Given the description of an element on the screen output the (x, y) to click on. 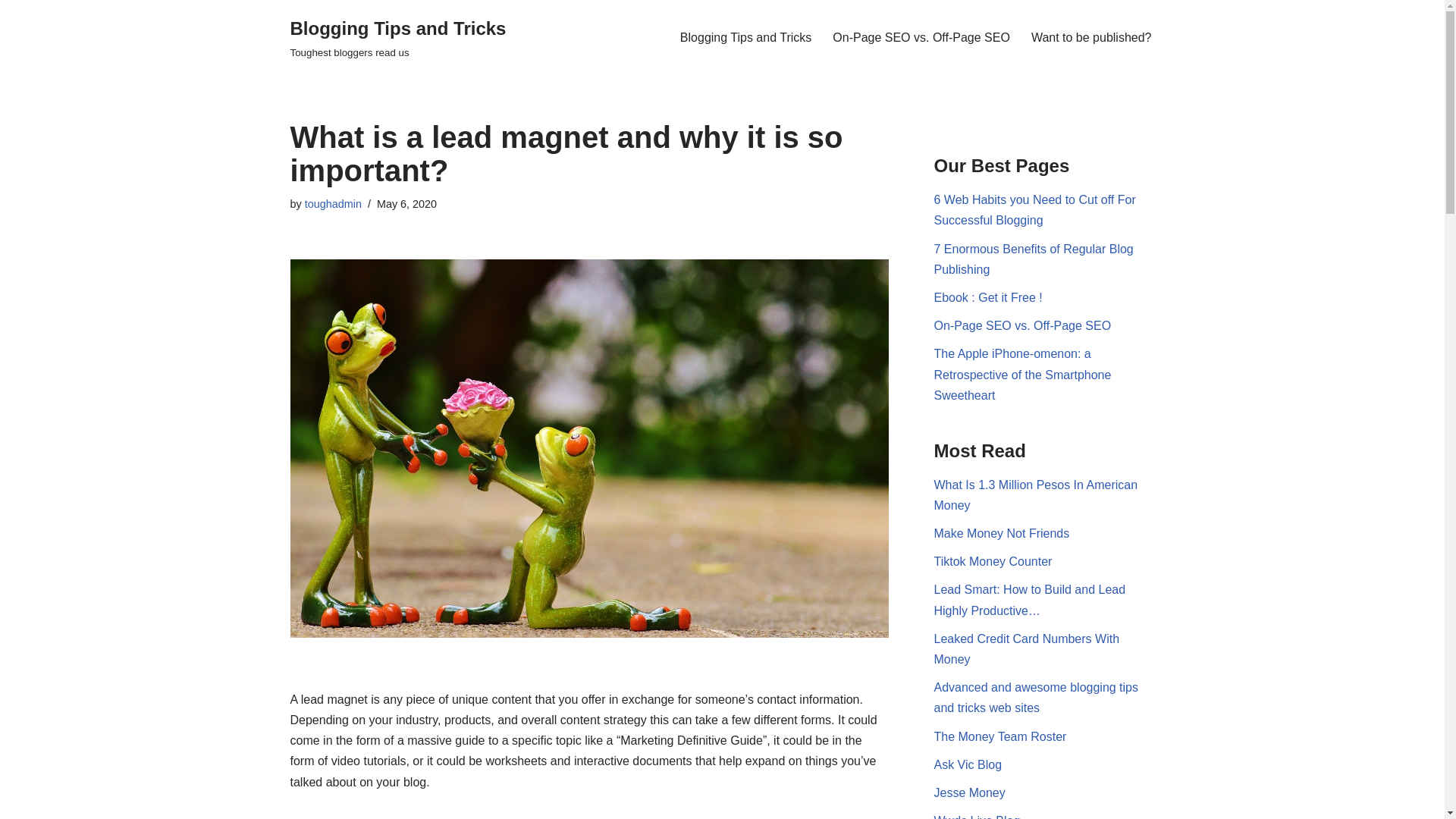
Ebook : Get it Free ! (988, 297)
Make Money Not Friends (1002, 533)
Advanced and awesome blogging tips and tricks web sites (1036, 697)
What Is 1.3 Million Pesos In American Money (1036, 494)
Skip to content (11, 31)
On-Page SEO vs. Off-Page SEO (1023, 325)
On-Page SEO vs. Off-Page SEO (921, 37)
toughadmin (332, 203)
